Given the description of an element on the screen output the (x, y) to click on. 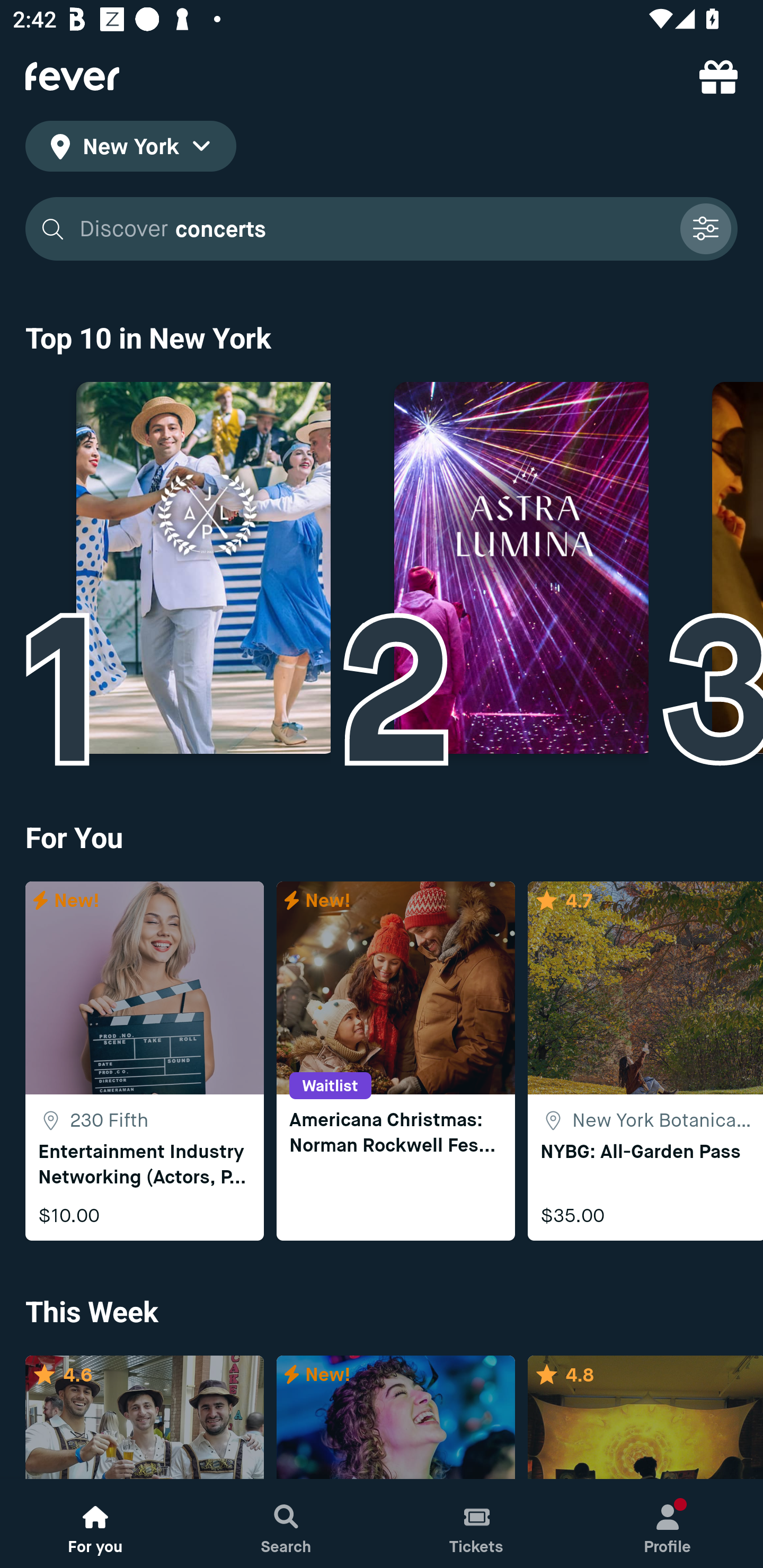
referral (718, 75)
location icon New York location icon (130, 149)
Discover concerts (381, 228)
Discover concerts (373, 228)
cover image 50.0 4.6 (144, 1417)
cover image New! label New! (395, 1417)
cover image 50.0 4.8 (645, 1417)
Search (285, 1523)
Tickets (476, 1523)
Profile, New notification Profile (667, 1523)
